Given the description of an element on the screen output the (x, y) to click on. 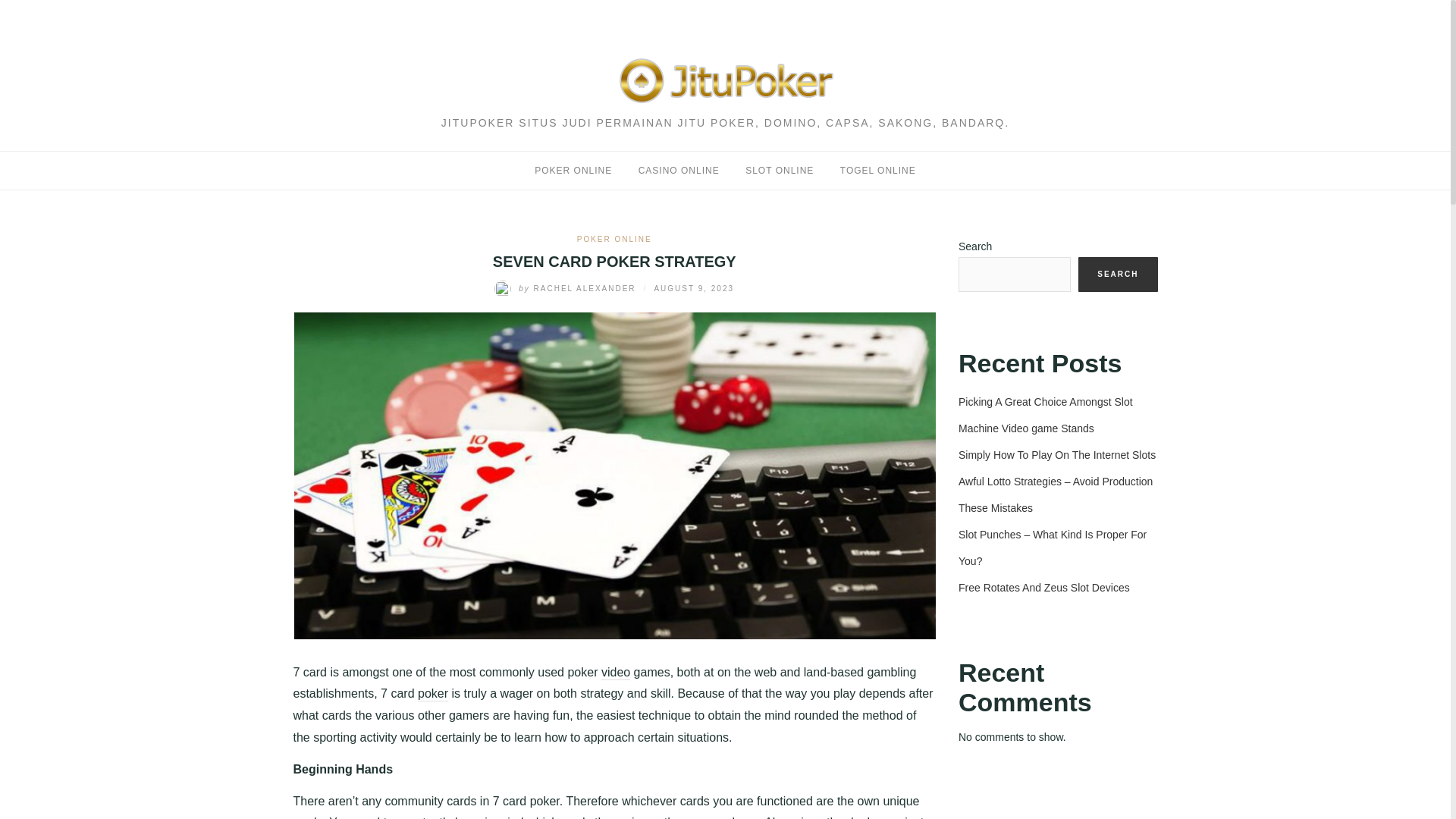
CASINO ONLINE (679, 170)
SLOT ONLINE (779, 170)
SEARCH (1117, 274)
Free Rotates And Zeus Slot Devices (1043, 587)
TOGEL ONLINE (877, 170)
POKER ONLINE (614, 239)
video (615, 672)
POKER ONLINE (572, 170)
by RACHEL ALEXANDER (567, 288)
